Given the description of an element on the screen output the (x, y) to click on. 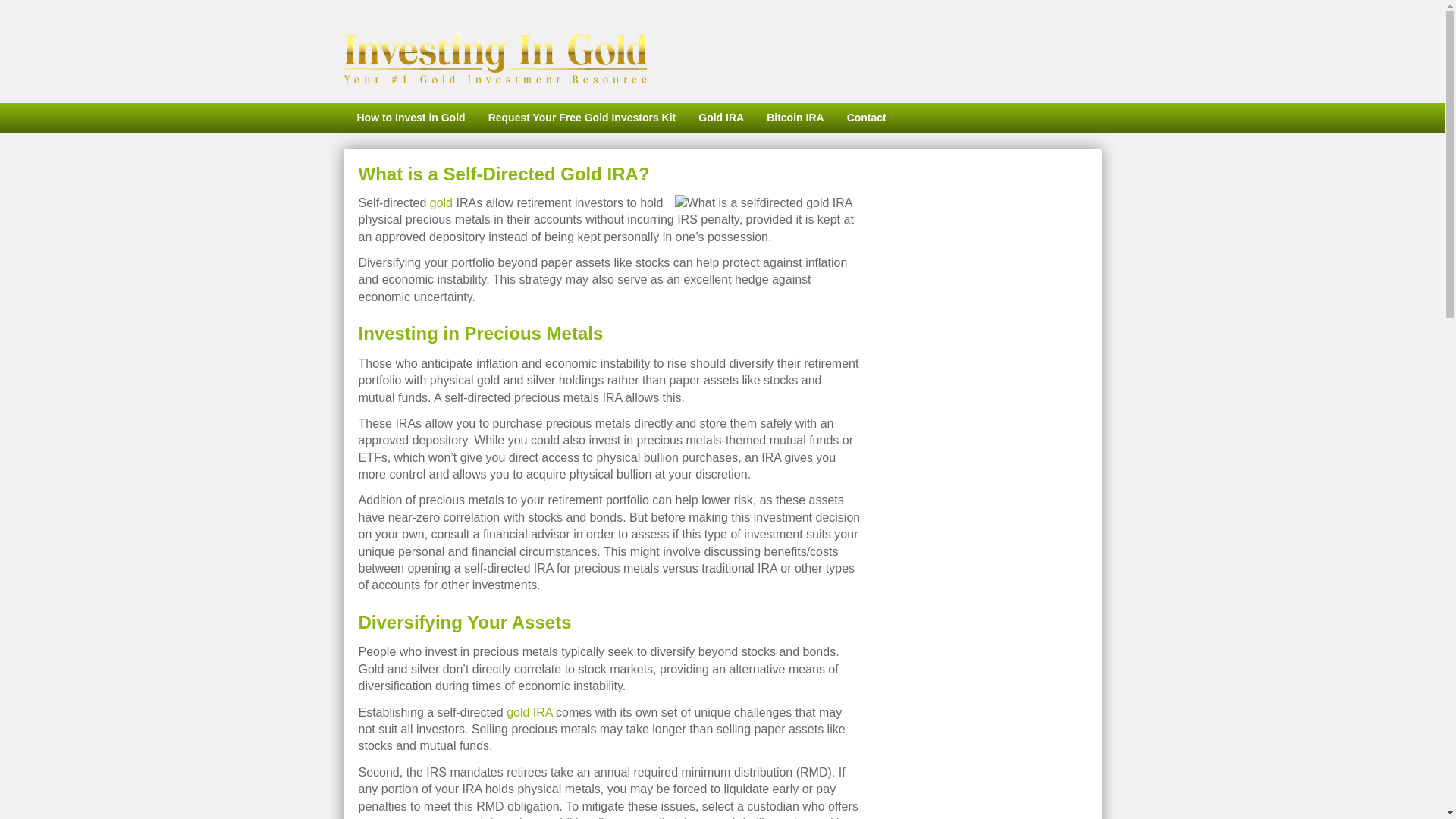
gold (440, 202)
Contact (866, 118)
How to Invest in Gold (409, 118)
Bitcoin IRA (794, 118)
gold IRA (528, 712)
Gold IRA (721, 118)
Request Your Free Gold Investors Kit (582, 118)
